Given the description of an element on the screen output the (x, y) to click on. 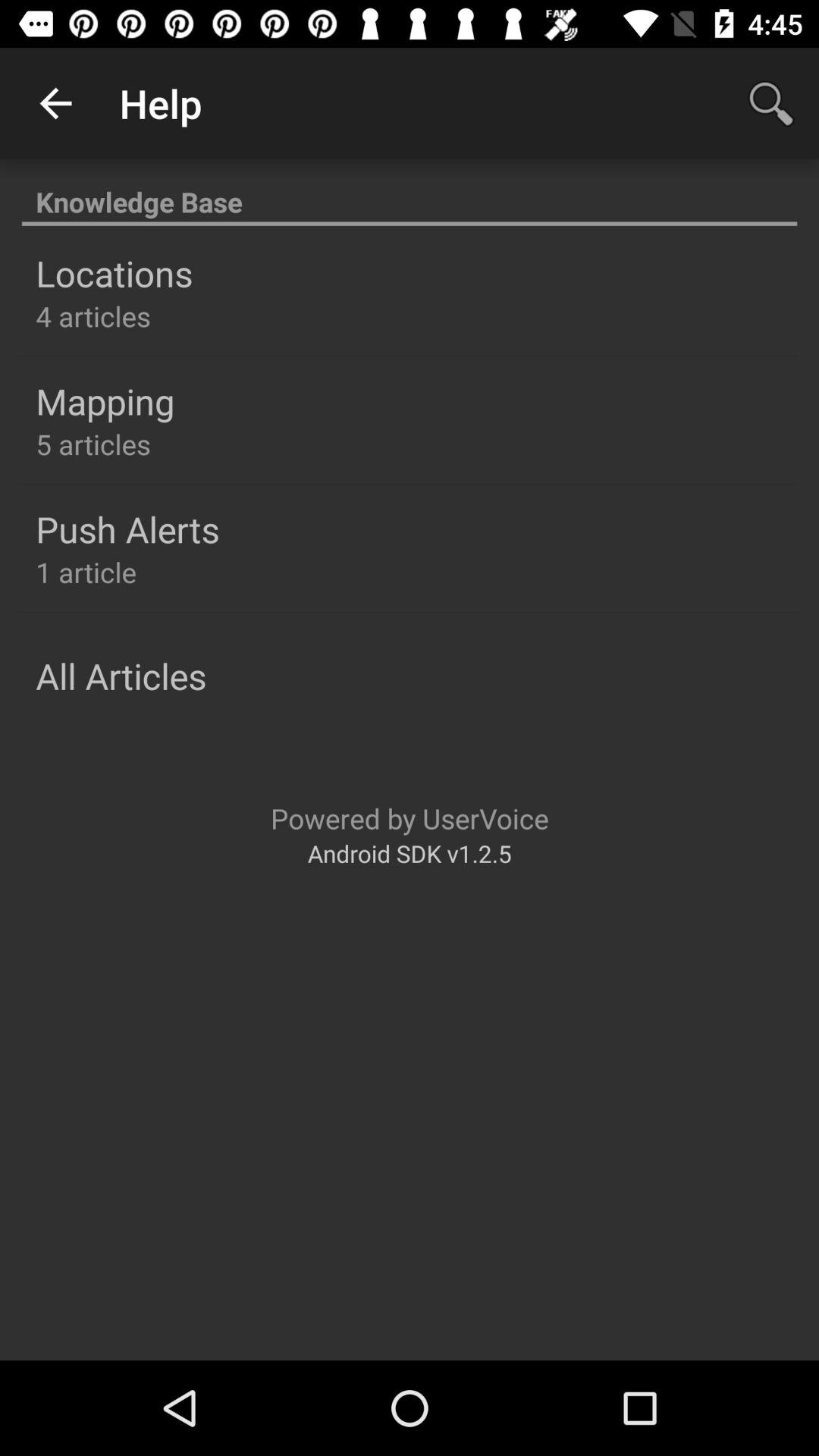
tap the icon to the right of the help item (771, 103)
